Given the description of an element on the screen output the (x, y) to click on. 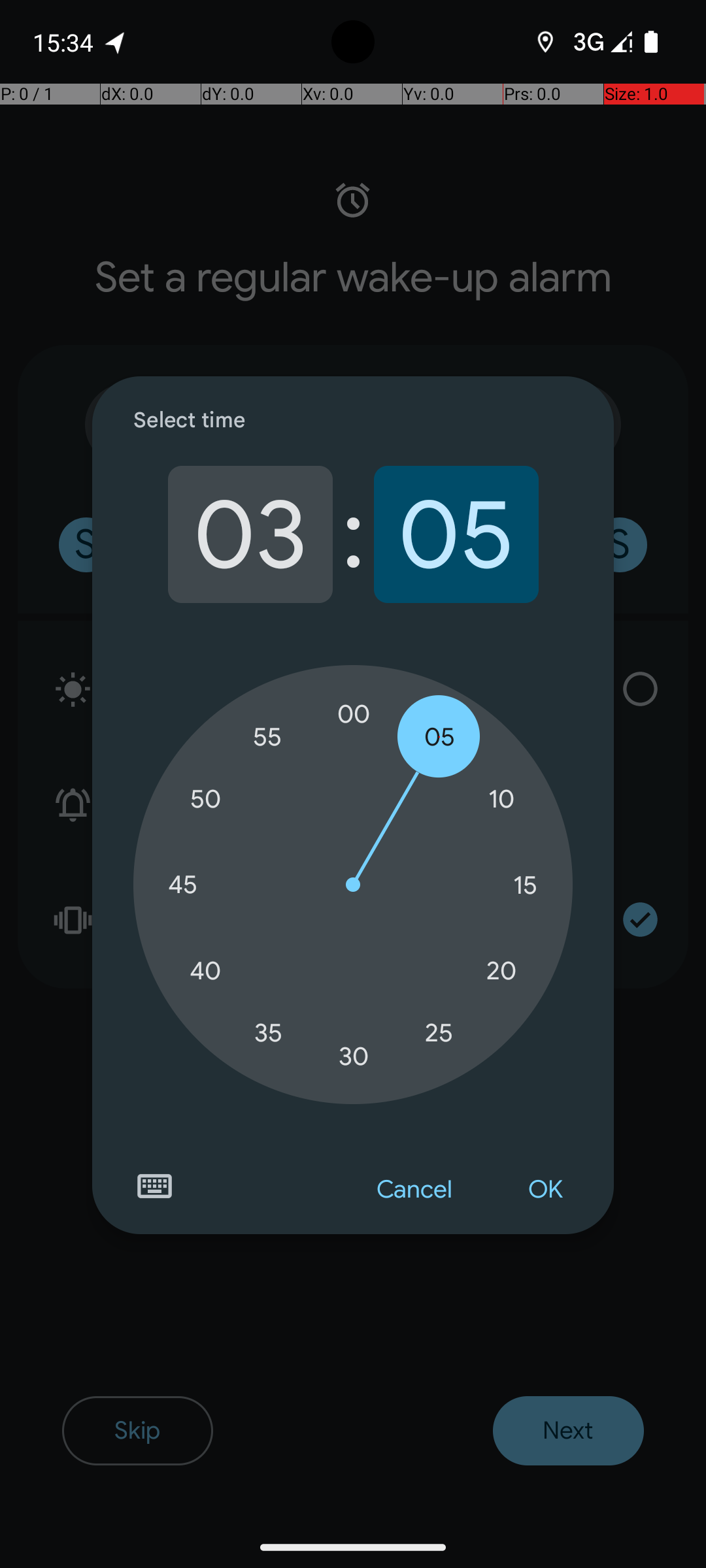
03 Element type: android.view.View (250, 534)
05 Element type: android.view.View (455, 534)
Switch to text input mode for the time input. Element type: android.widget.Button (154, 1186)
Cancel Element type: android.widget.Button (414, 1189)
55 Element type: android.widget.TextView (267, 736)
50 Element type: android.widget.TextView (205, 798)
10 Element type: android.widget.TextView (501, 798)
45 Element type: android.widget.TextView (182, 884)
15 Element type: android.widget.TextView (524, 885)
40 Element type: android.widget.TextView (205, 970)
35 Element type: android.widget.TextView (267, 1032)
30 Element type: android.widget.TextView (353, 1056)
25 Element type: android.widget.TextView (438, 1032)
20 Element type: android.widget.TextView (501, 970)
